Given the description of an element on the screen output the (x, y) to click on. 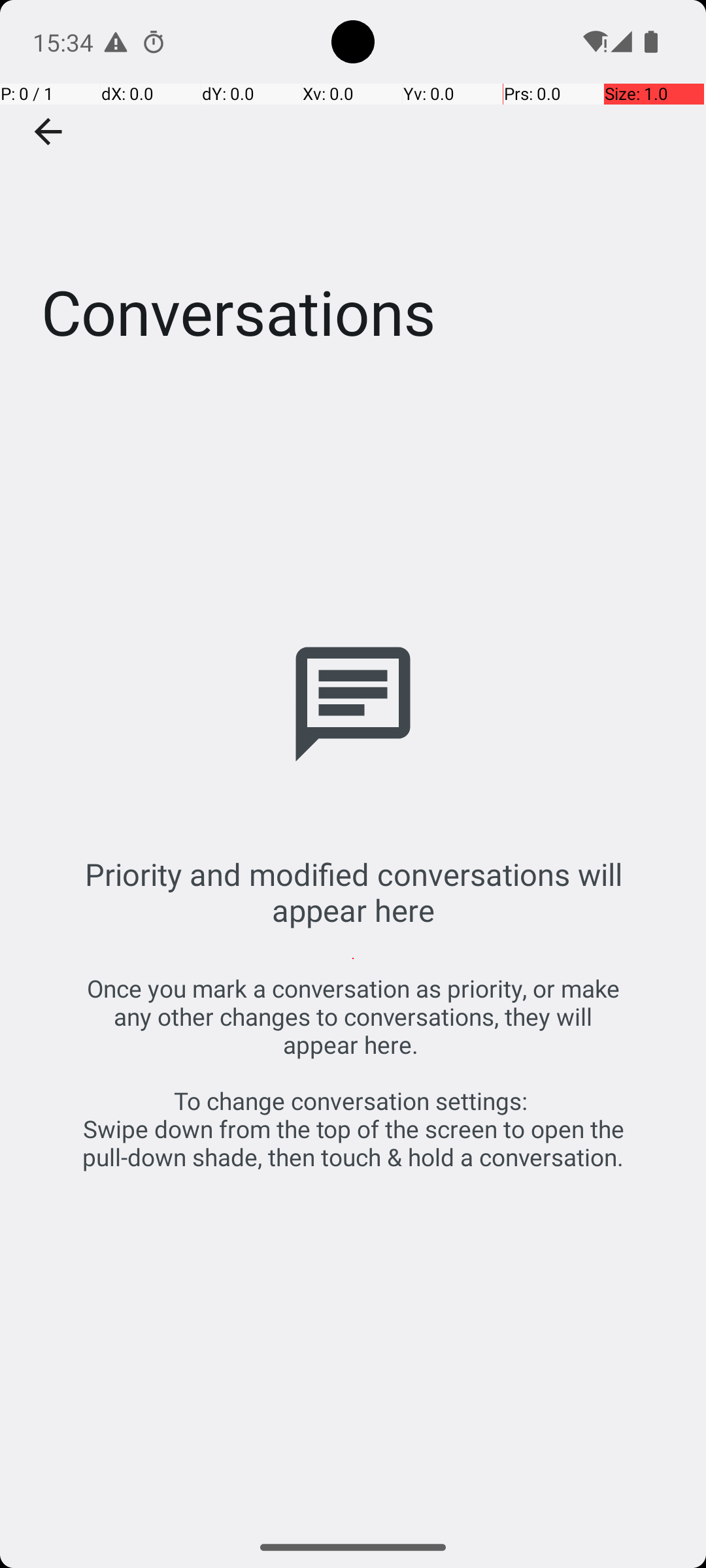
Conversations Element type: android.widget.FrameLayout (353, 195)
Priority and modified conversations will appear here Element type: android.widget.TextView (352, 891)
Once you mark a conversation as priority, or make any other changes to conversations, they will appear here. 

To change conversation settings: 
Swipe down from the top of the screen to open the pull-down shade, then touch & hold a conversation. Element type: android.widget.TextView (352, 1072)
Android System notification:  Element type: android.widget.ImageView (115, 41)
